Given the description of an element on the screen output the (x, y) to click on. 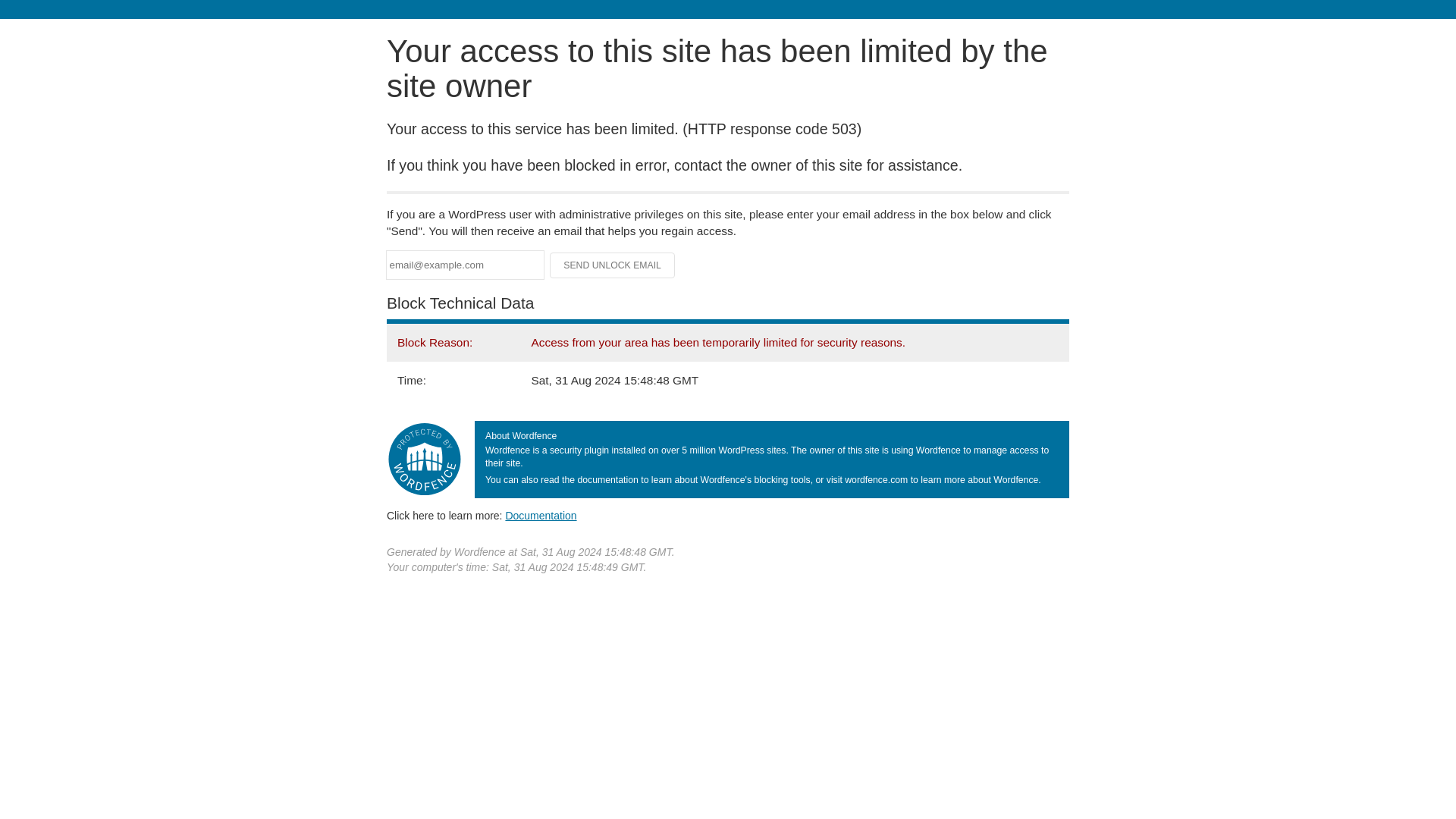
Send Unlock Email (612, 265)
Send Unlock Email (612, 265)
Documentation (540, 515)
